Given the description of an element on the screen output the (x, y) to click on. 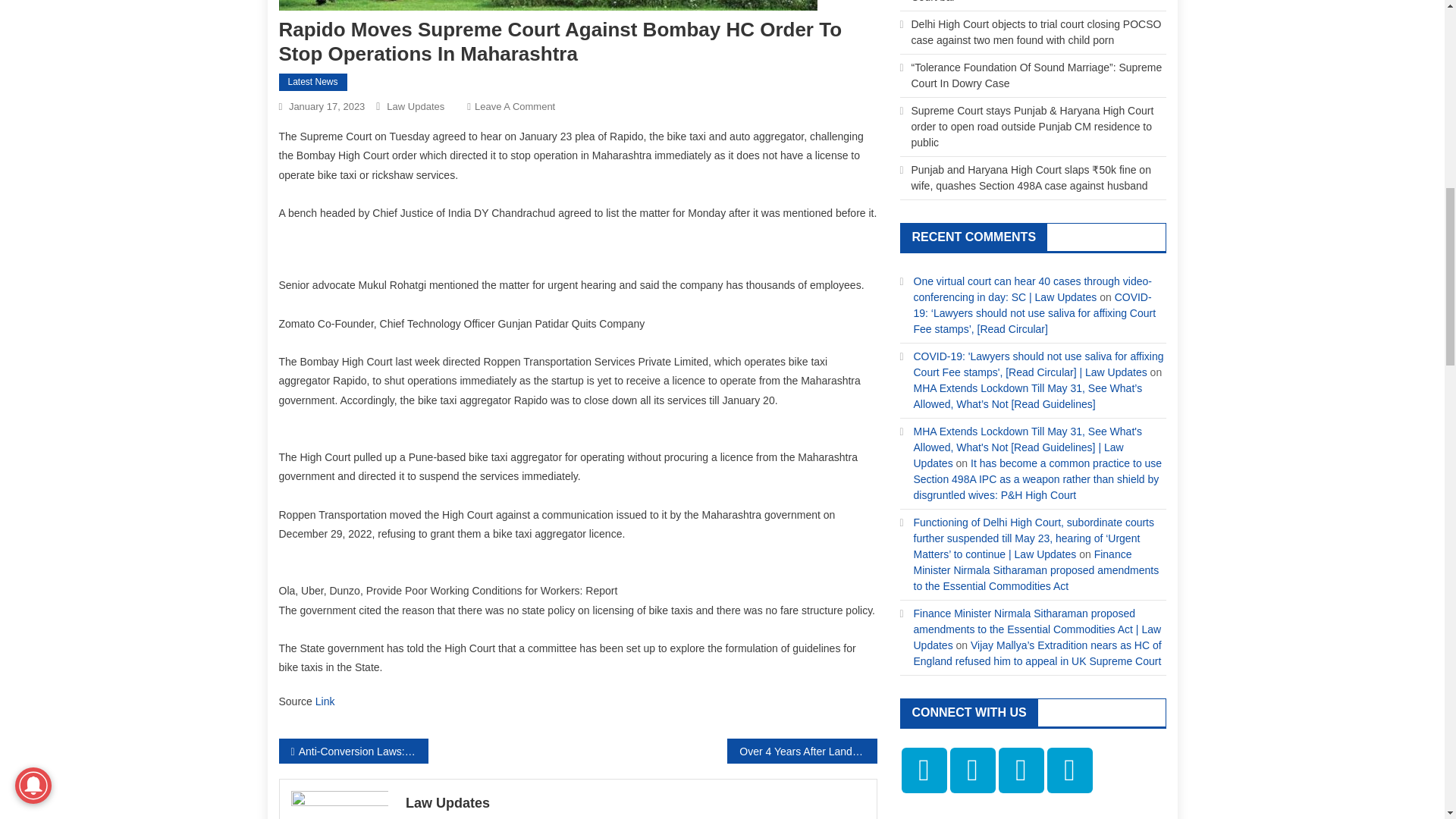
Social Media Icons (971, 770)
Law Updates (635, 802)
Link (324, 701)
January 17, 2023 (326, 106)
Law Updates (415, 106)
Social Media Icons (923, 770)
Social Media Icons (1069, 770)
Latest News (313, 82)
Social Media Icons (1020, 770)
